Given the description of an element on the screen output the (x, y) to click on. 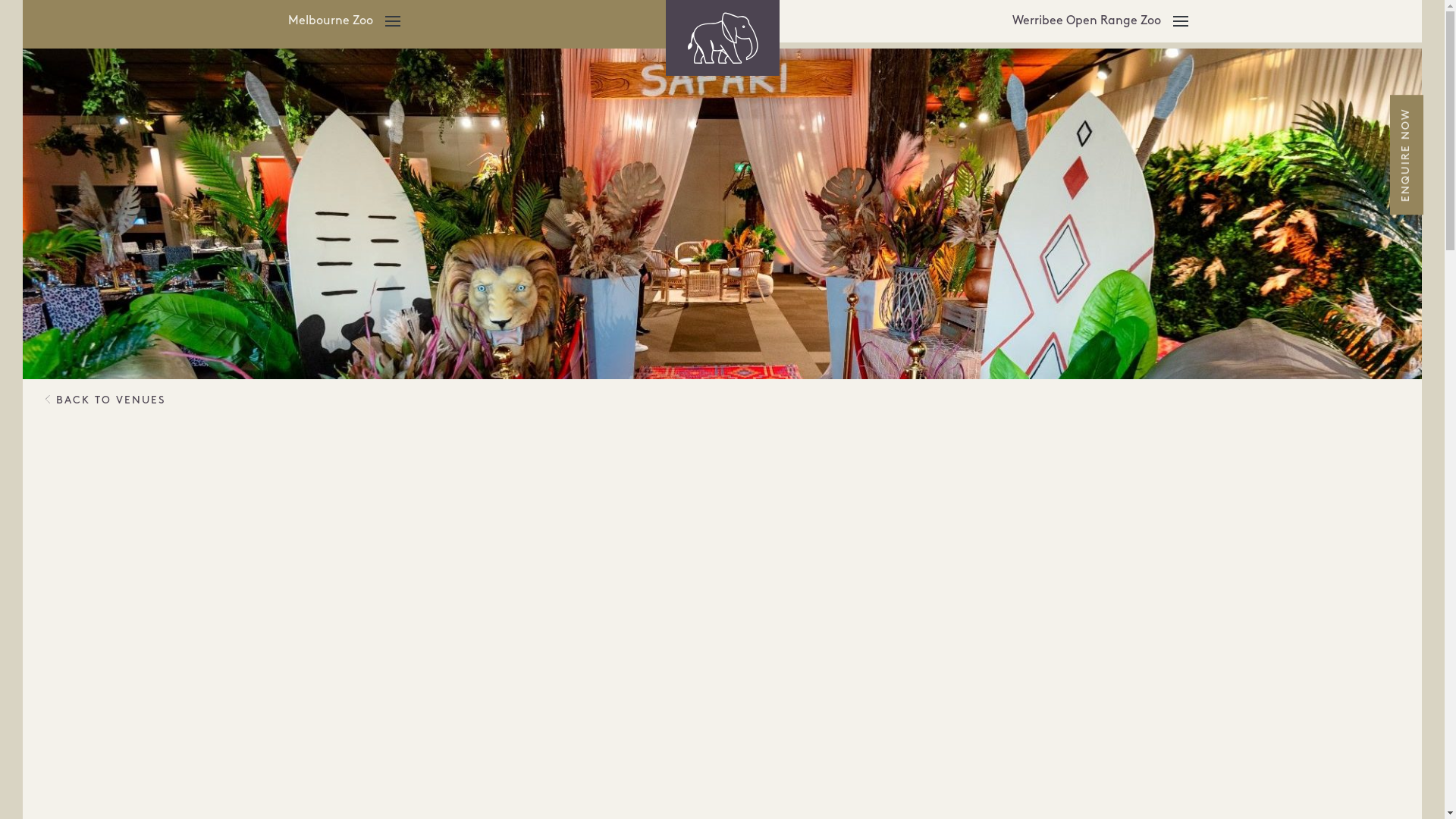
Melbourne Zoo Element type: text (343, 24)
BACK TO VENUES Element type: text (105, 400)
Werribee Open Range Zoo Element type: text (1100, 24)
